Given the description of an element on the screen output the (x, y) to click on. 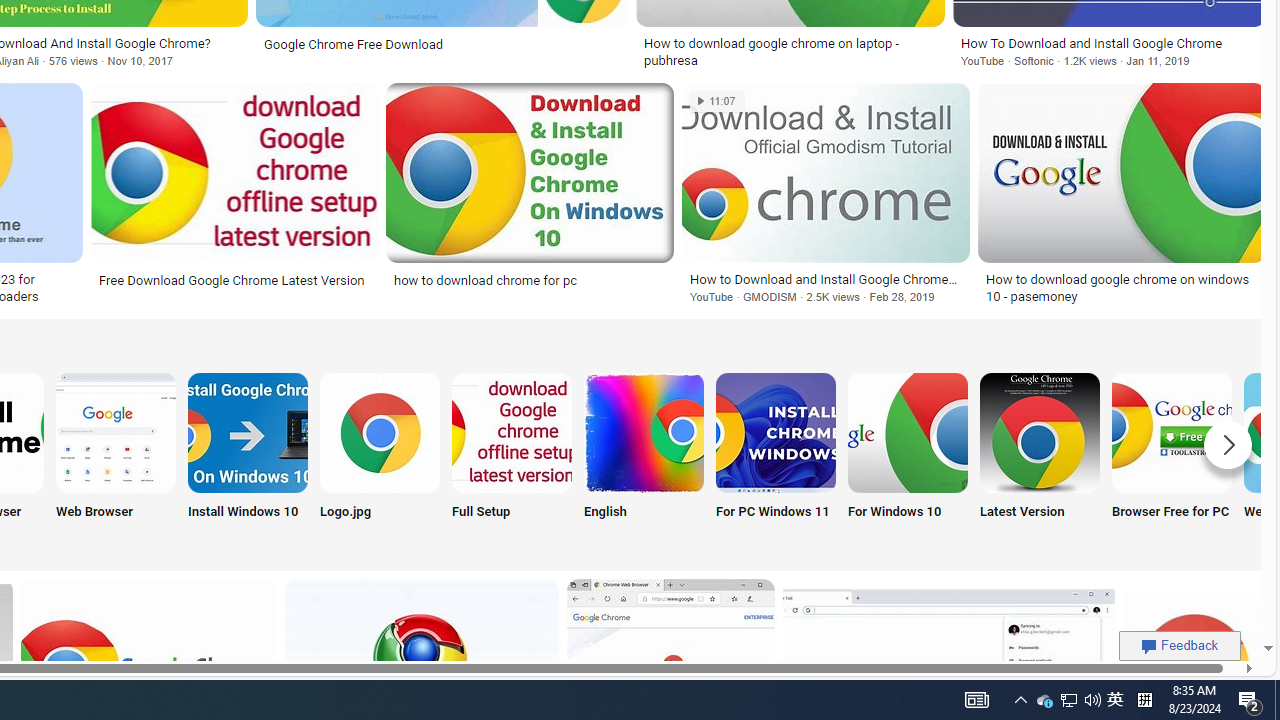
11:07 (716, 101)
How to download google chrome on windows 10 - pasemoneySave (1121, 196)
Google Chrome Download for Windows 10 (907, 432)
Download Google Chrome Latest Version (1039, 432)
Google Chrome Download English (643, 432)
Google Chrome Web Browser Download Web Browser (116, 458)
Latest Version (1039, 457)
How to download google chrome on laptop - pubhresa (789, 52)
how to download chrome for pcSave (534, 196)
Free Download Google Chrome Latest Version (233, 279)
Google Chrome Download English English (643, 458)
Google Chrome Download for Windows 10 For Windows 10 (907, 458)
How To Download and Install Google Chrome (1109, 43)
